Given the description of an element on the screen output the (x, y) to click on. 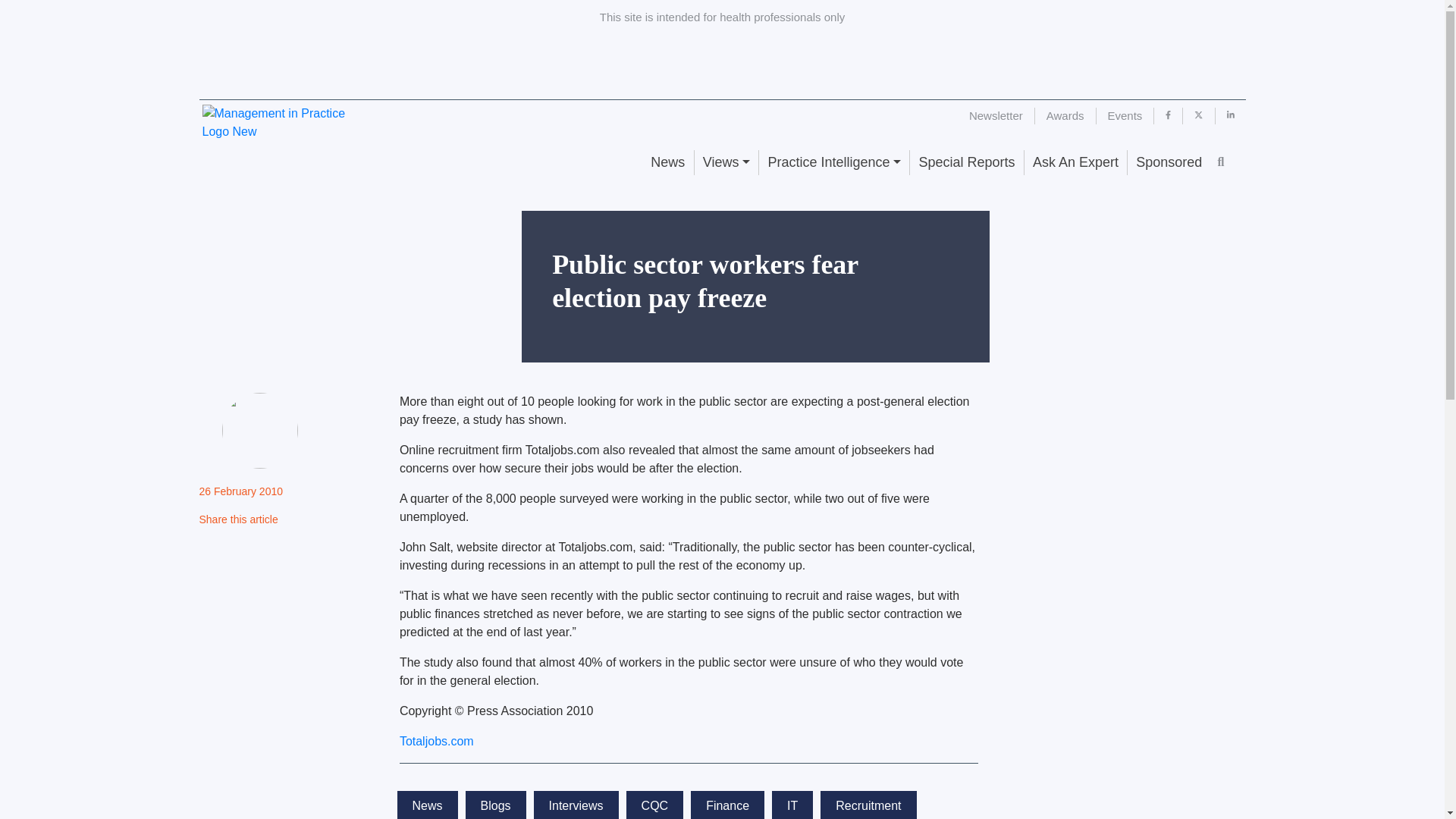
Newsletter (996, 115)
Events (1125, 115)
Special Reports (966, 162)
Ask An Expert (1075, 162)
Sponsored (1167, 162)
Practice Intelligence (833, 162)
News (667, 162)
Views (726, 162)
Awards (1065, 115)
